Given the description of an element on the screen output the (x, y) to click on. 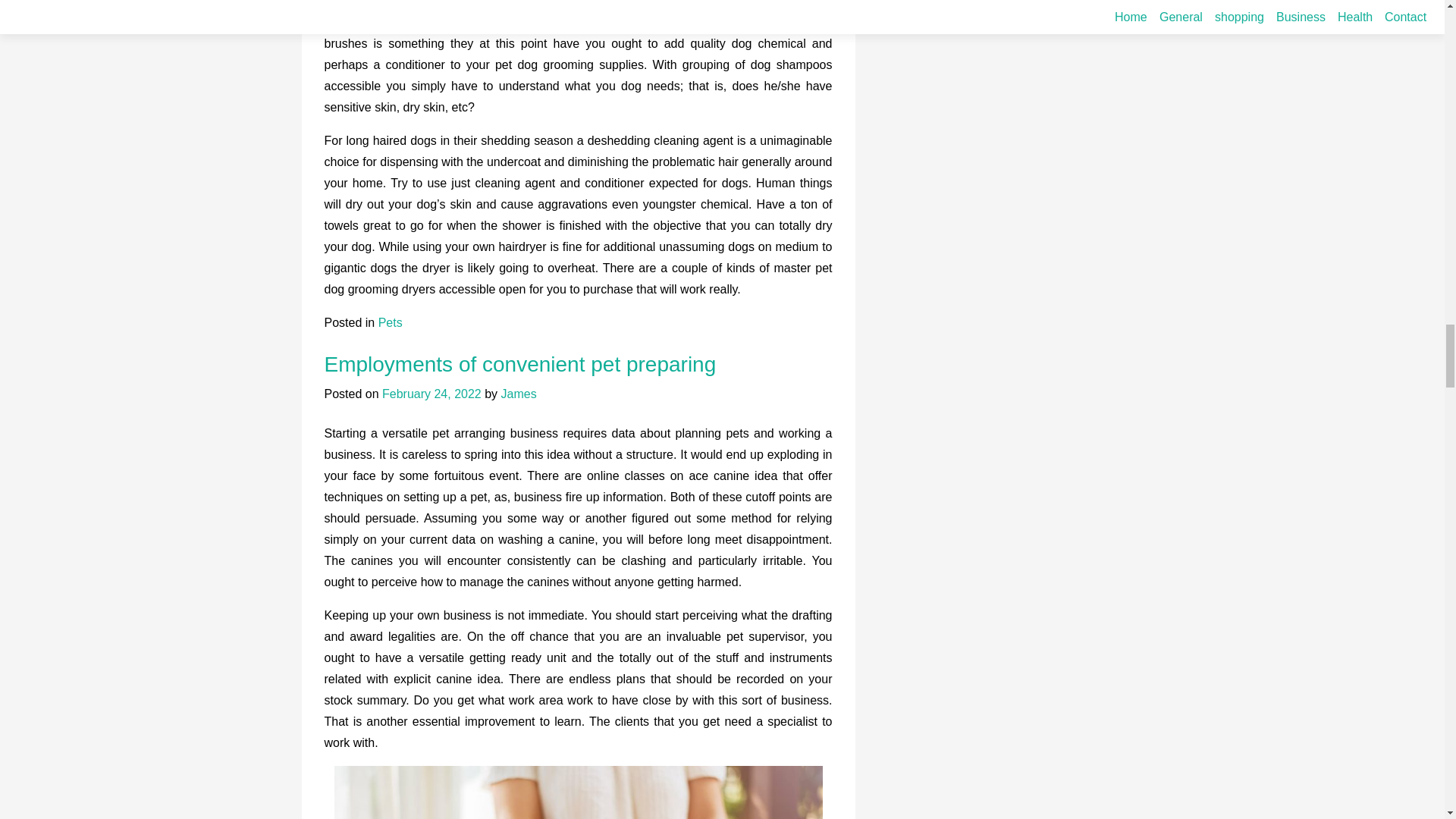
Employments of convenient pet preparing (520, 363)
Mobile pet grooming (603, 21)
Pets (390, 322)
February 24, 2022 (431, 393)
James (518, 393)
